Given the description of an element on the screen output the (x, y) to click on. 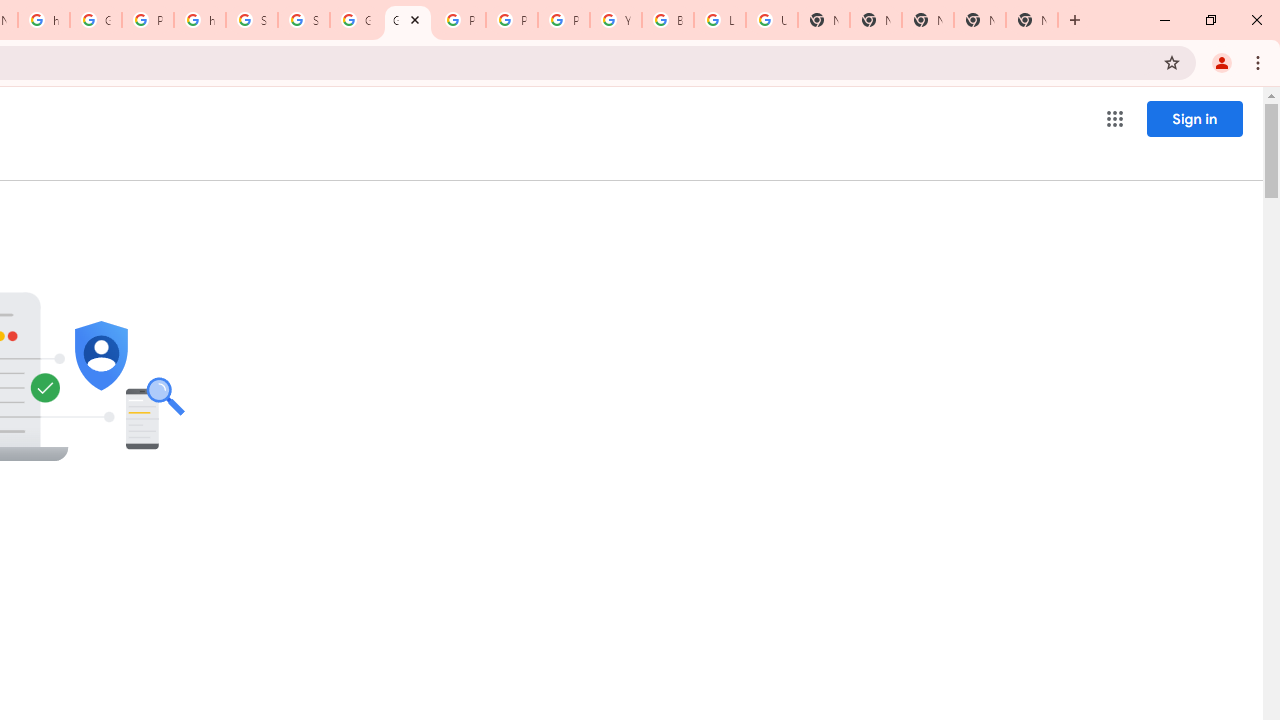
Privacy Help Center - Policies Help (459, 20)
https://scholar.google.com/ (200, 20)
YouTube (616, 20)
New Tab (927, 20)
